Given the description of an element on the screen output the (x, y) to click on. 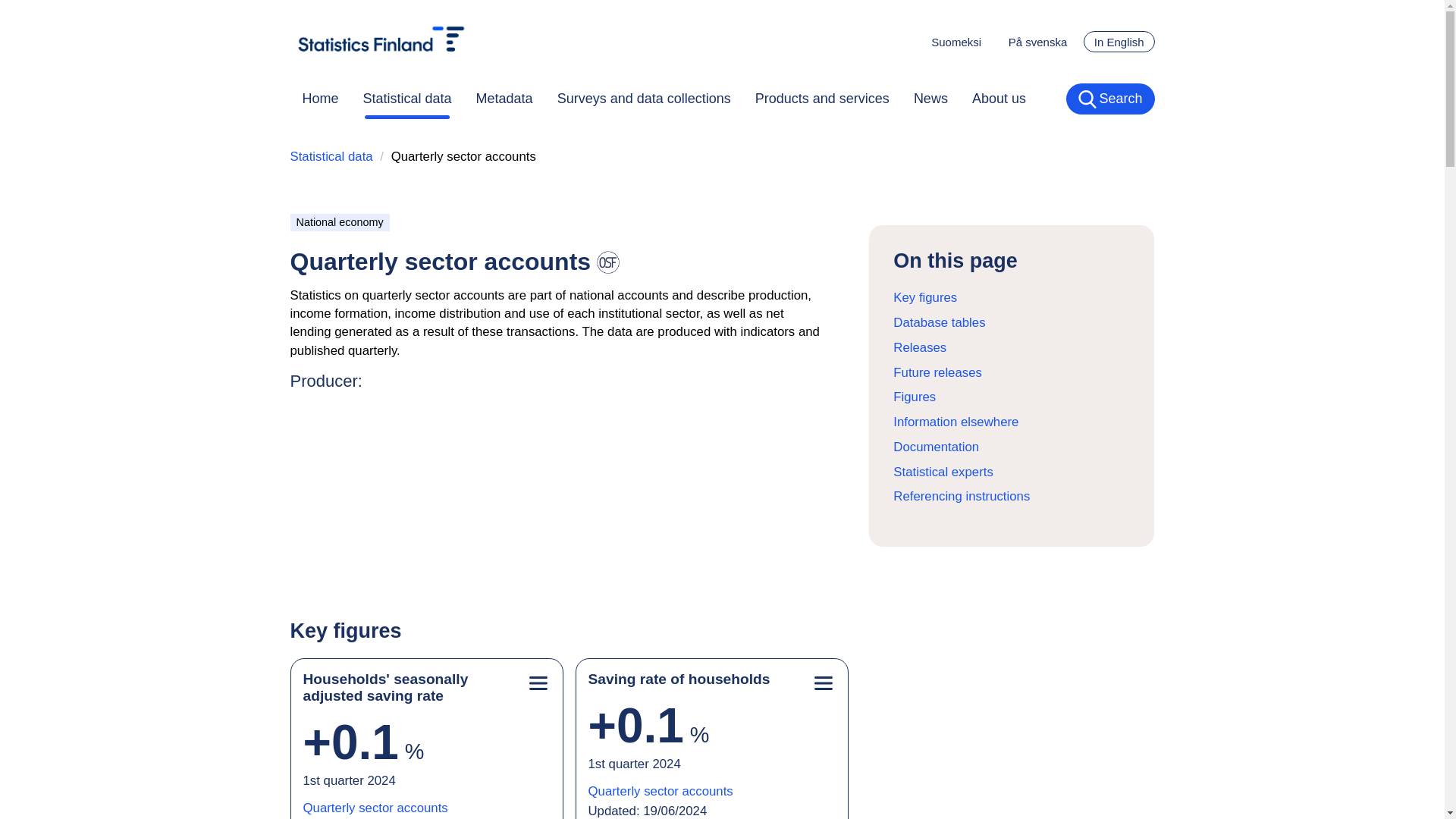
News (930, 98)
Quarterly sector accounts (375, 809)
Metadata (504, 98)
Future releases (937, 372)
In English (1118, 42)
Referencing instructions (961, 495)
Products and services (821, 98)
Surveys and data collections (643, 98)
Statistical experts (942, 472)
Information elsewhere (955, 421)
